Given the description of an element on the screen output the (x, y) to click on. 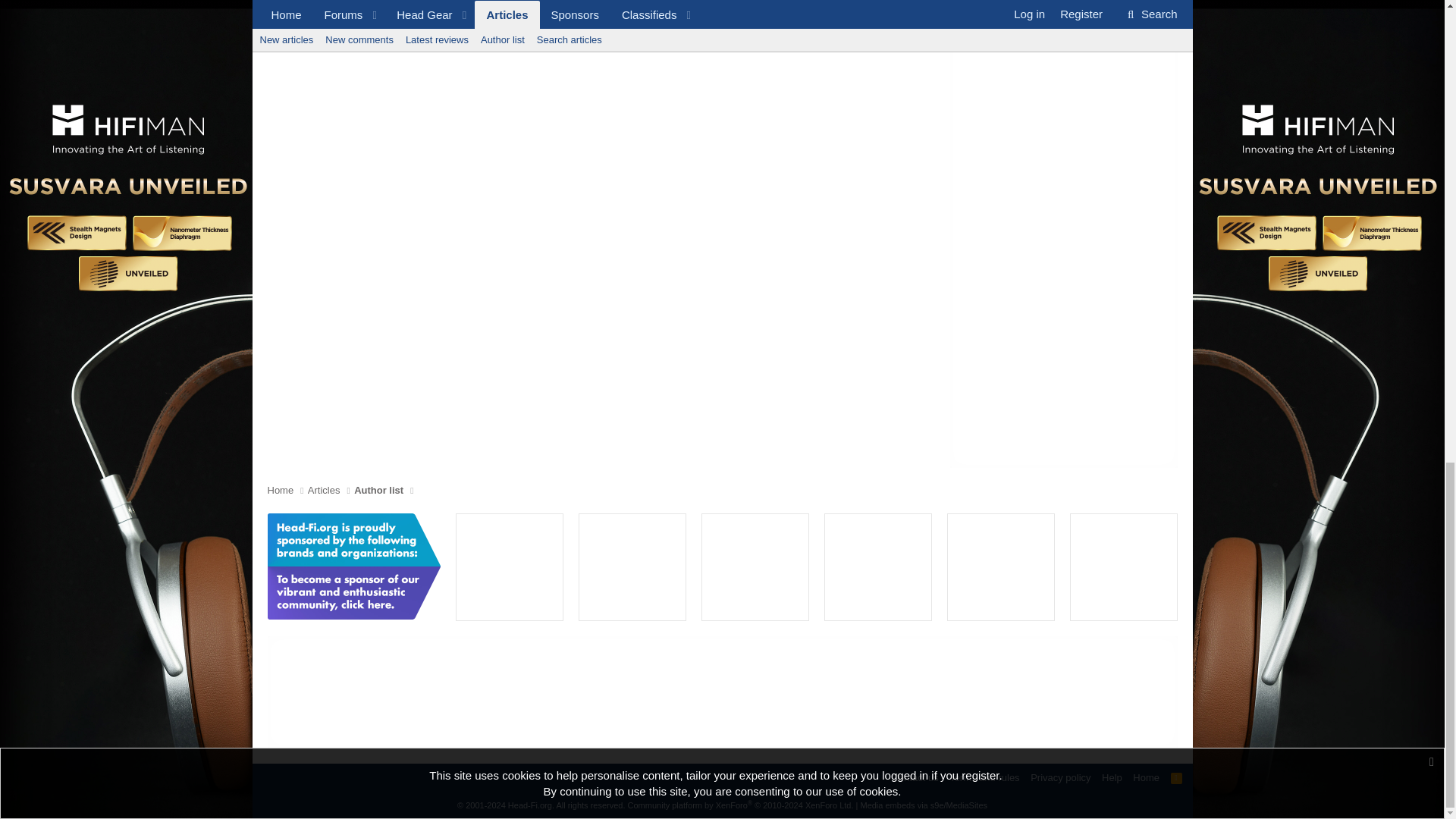
3rd party ad content (632, 566)
3rd party ad content (878, 566)
3rd party ad content (1123, 566)
3rd party ad content (509, 566)
3rd party ad content (721, 692)
3rd party ad content (1000, 566)
3rd party ad content (754, 566)
